Given the description of an element on the screen output the (x, y) to click on. 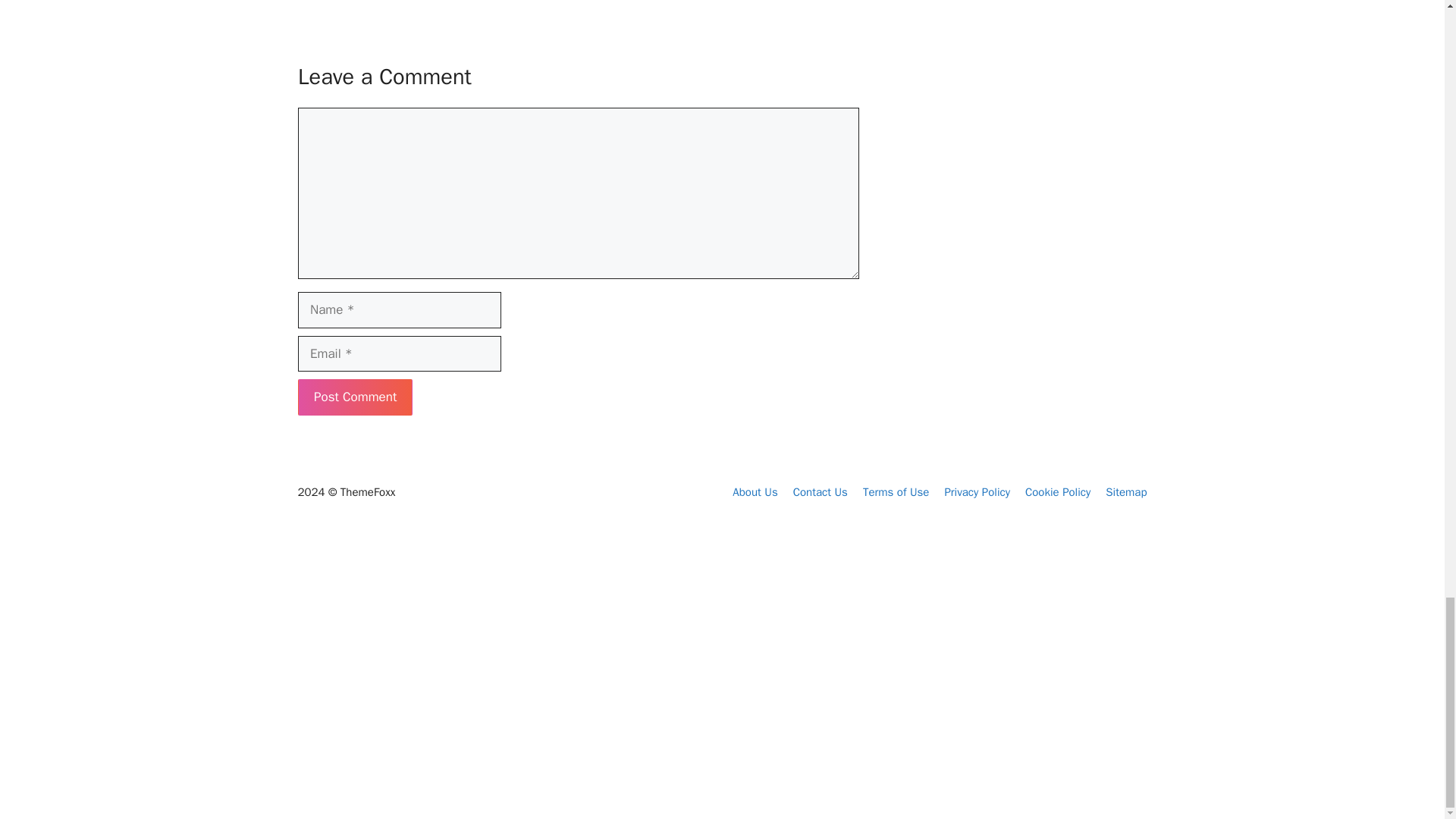
Download iOS 11.2 Stock Wallpapers (554, 677)
Download iPad Pro 2017 Stock Wallpapers (364, 698)
Download iOS 11.2 Stock Wallpapers 9 (546, 657)
Download iPad Pro 2017 Stock Wallpapers 8 (364, 667)
